Given the description of an element on the screen output the (x, y) to click on. 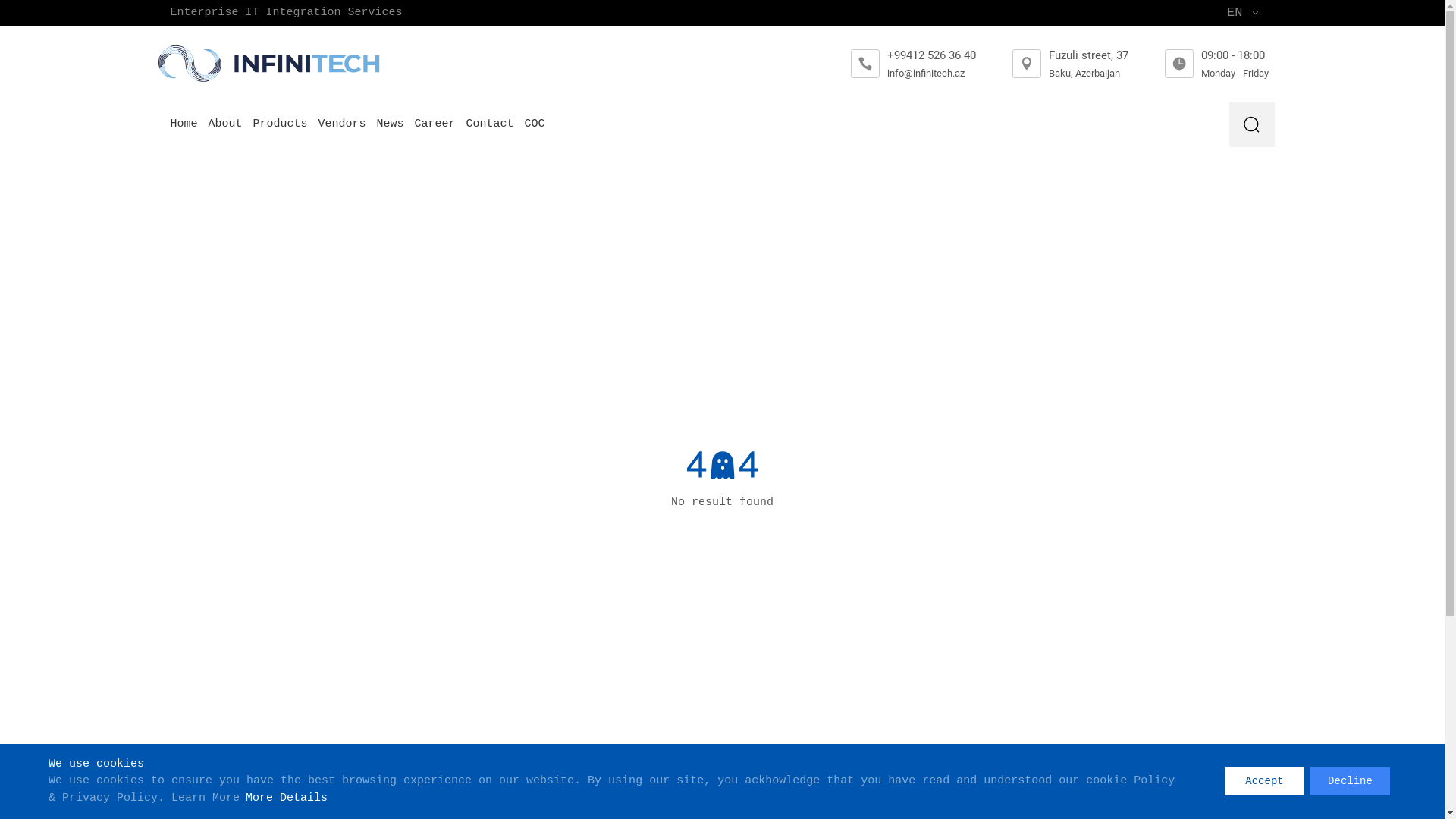
Products Element type: text (280, 124)
Vendors Element type: text (342, 124)
Home Element type: text (183, 124)
COC Element type: text (534, 124)
More Details Element type: text (283, 797)
Contact Element type: text (490, 124)
About Element type: text (225, 124)
Decline Element type: text (1350, 781)
News Element type: text (390, 124)
Career Element type: text (434, 124)
Accept Element type: text (1264, 781)
